Given the description of an element on the screen output the (x, y) to click on. 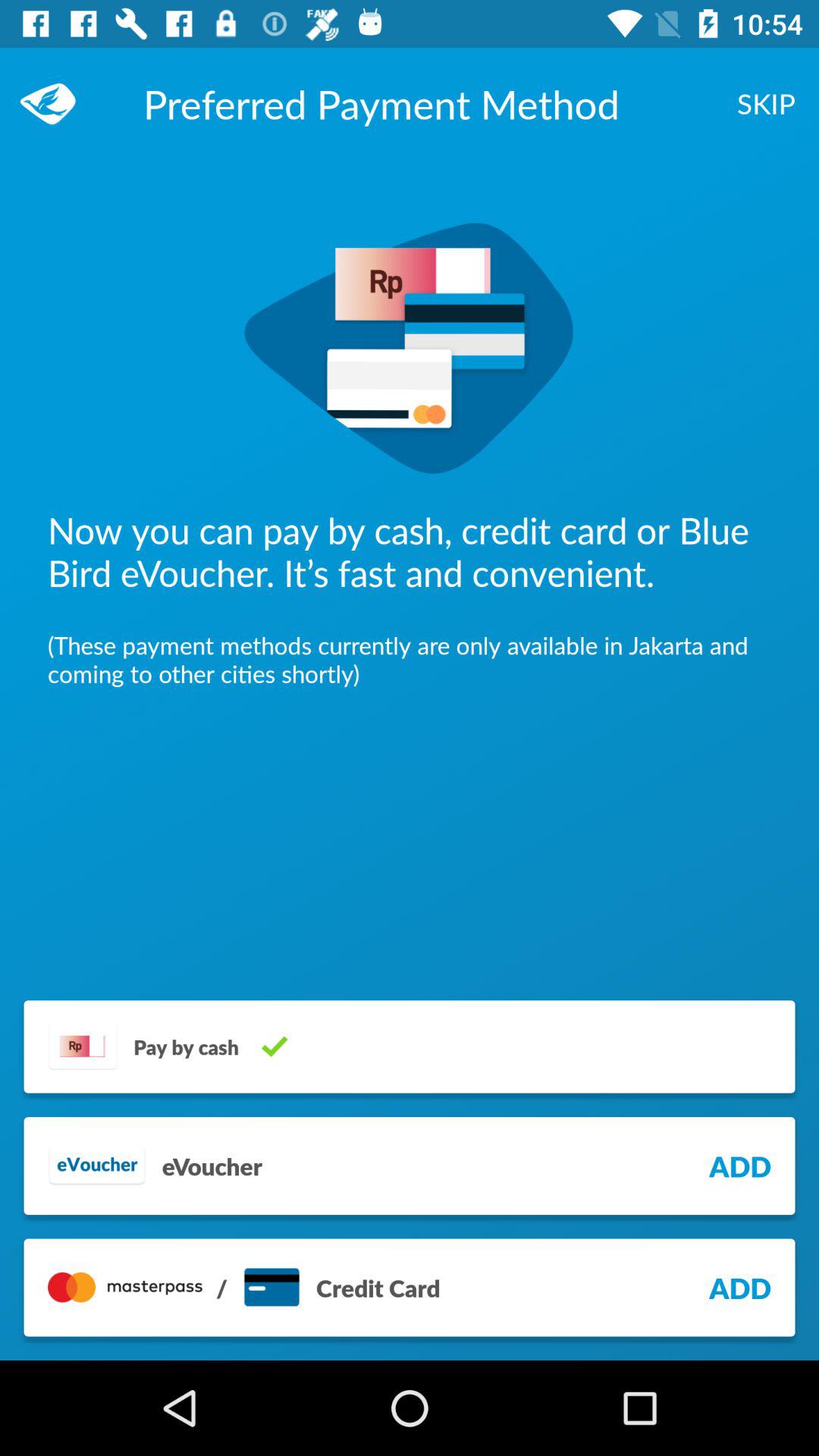
turn on icon to the right of preferred payment method icon (766, 103)
